Given the description of an element on the screen output the (x, y) to click on. 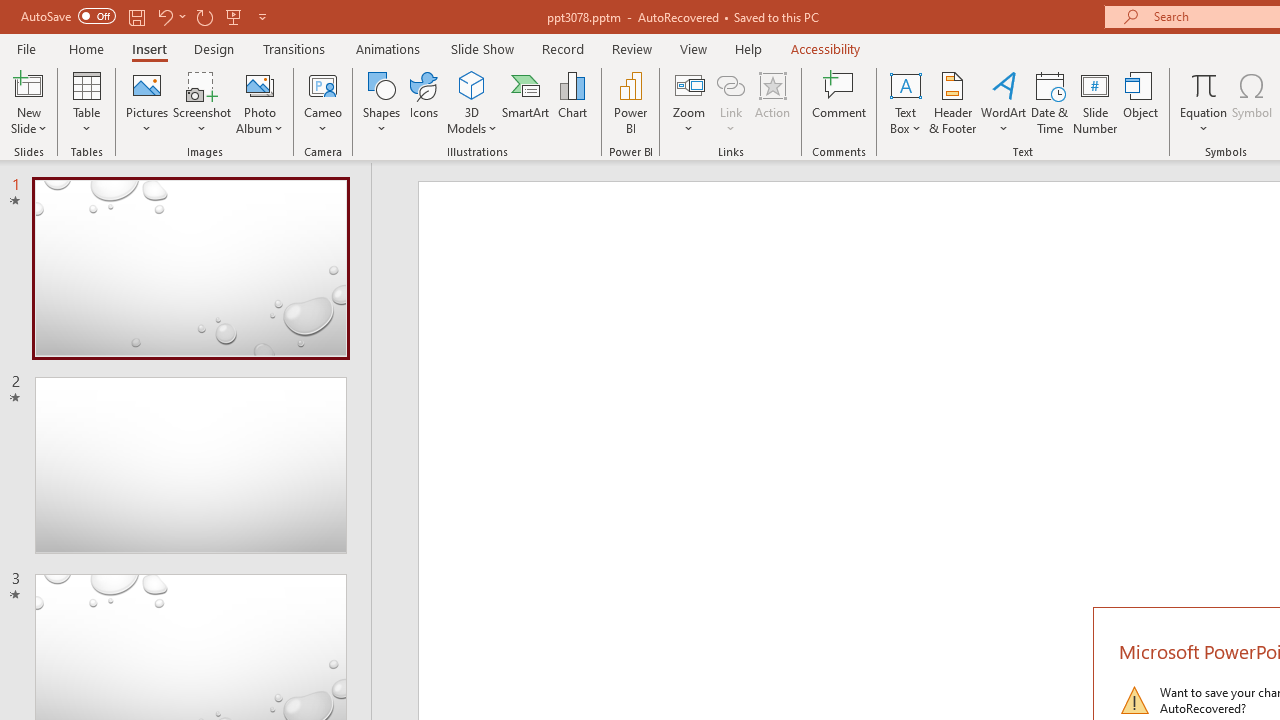
Symbol... (1252, 102)
Screenshot (202, 102)
Object... (1141, 102)
Draw Horizontal Text Box (905, 84)
Link (731, 102)
Link (731, 84)
3D Models (472, 84)
Date & Time... (1050, 102)
